Given the description of an element on the screen output the (x, y) to click on. 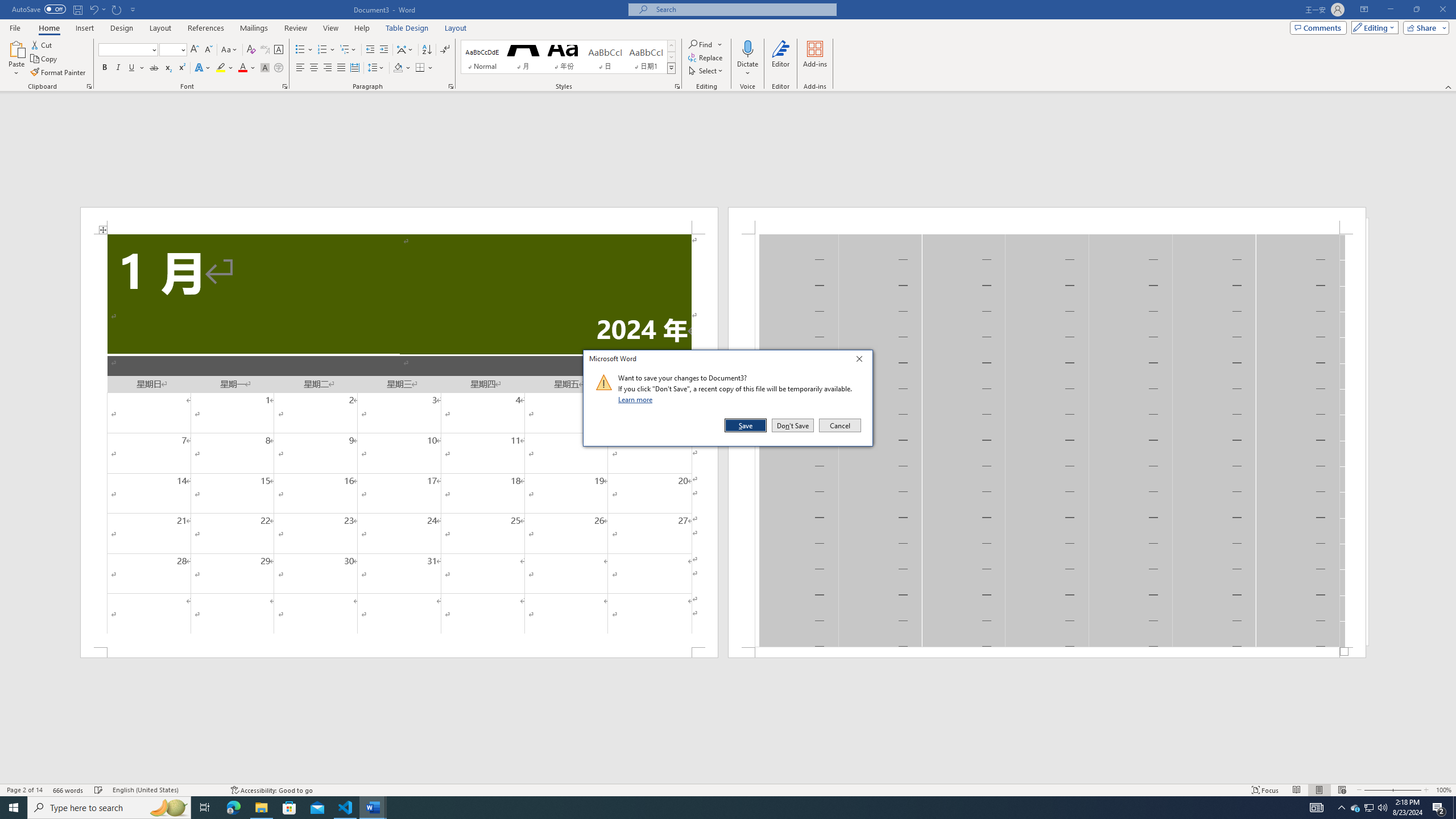
Search highlights icon opens search home window (167, 807)
Subscript (167, 67)
Office Clipboard... (88, 85)
Word Count 666 words (68, 790)
Review (295, 28)
Focus  (1265, 790)
Share (1423, 27)
Learn more (636, 399)
Insert (83, 28)
Find (700, 44)
Dictate (747, 58)
Row Down (670, 56)
Align Right (327, 67)
AutoSave (38, 9)
